Given the description of an element on the screen output the (x, y) to click on. 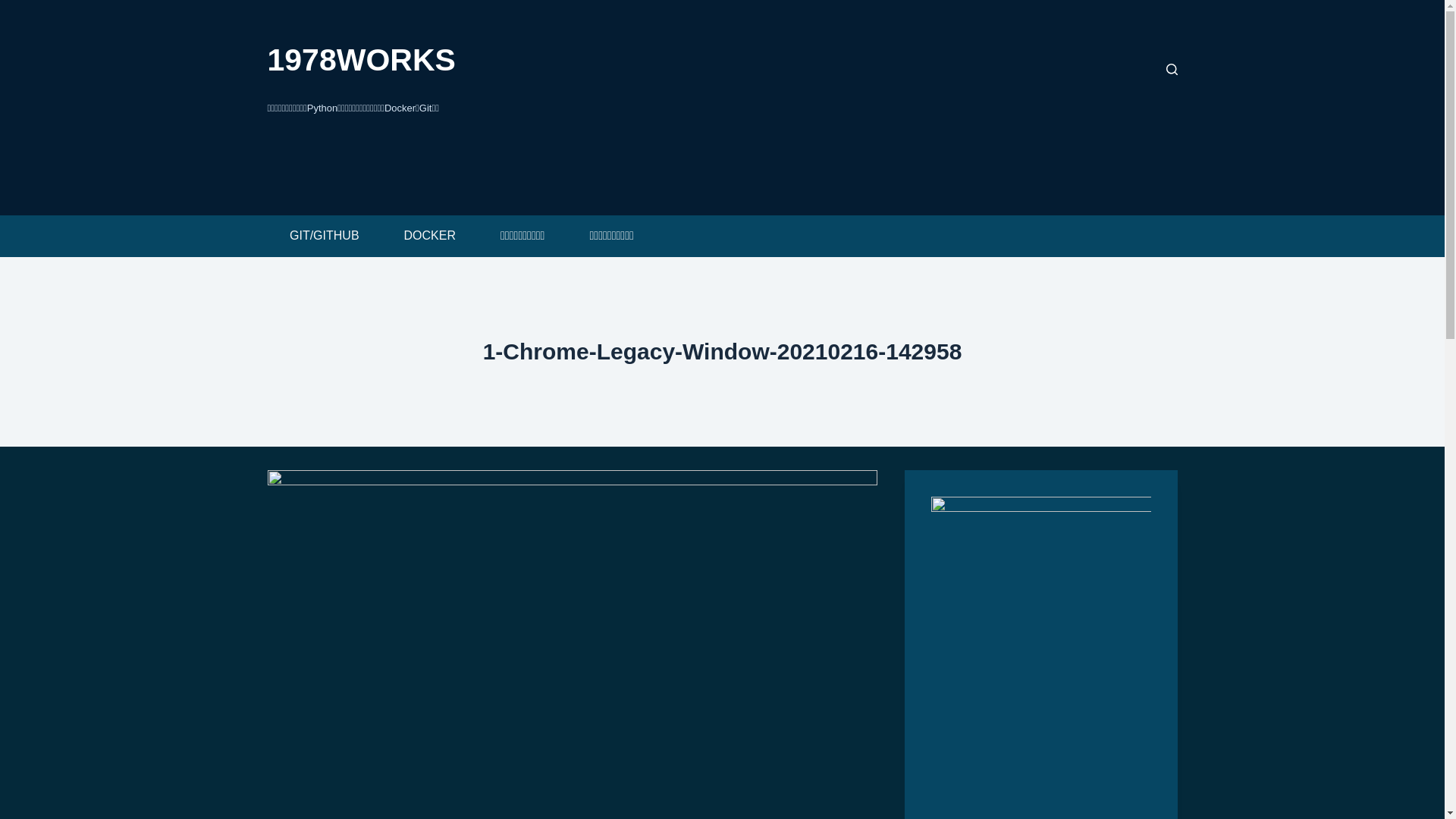
GIT/GITHUB Element type: text (323, 236)
DOCKER Element type: text (429, 236)
1978WORKS Element type: text (360, 59)
